Given the description of an element on the screen output the (x, y) to click on. 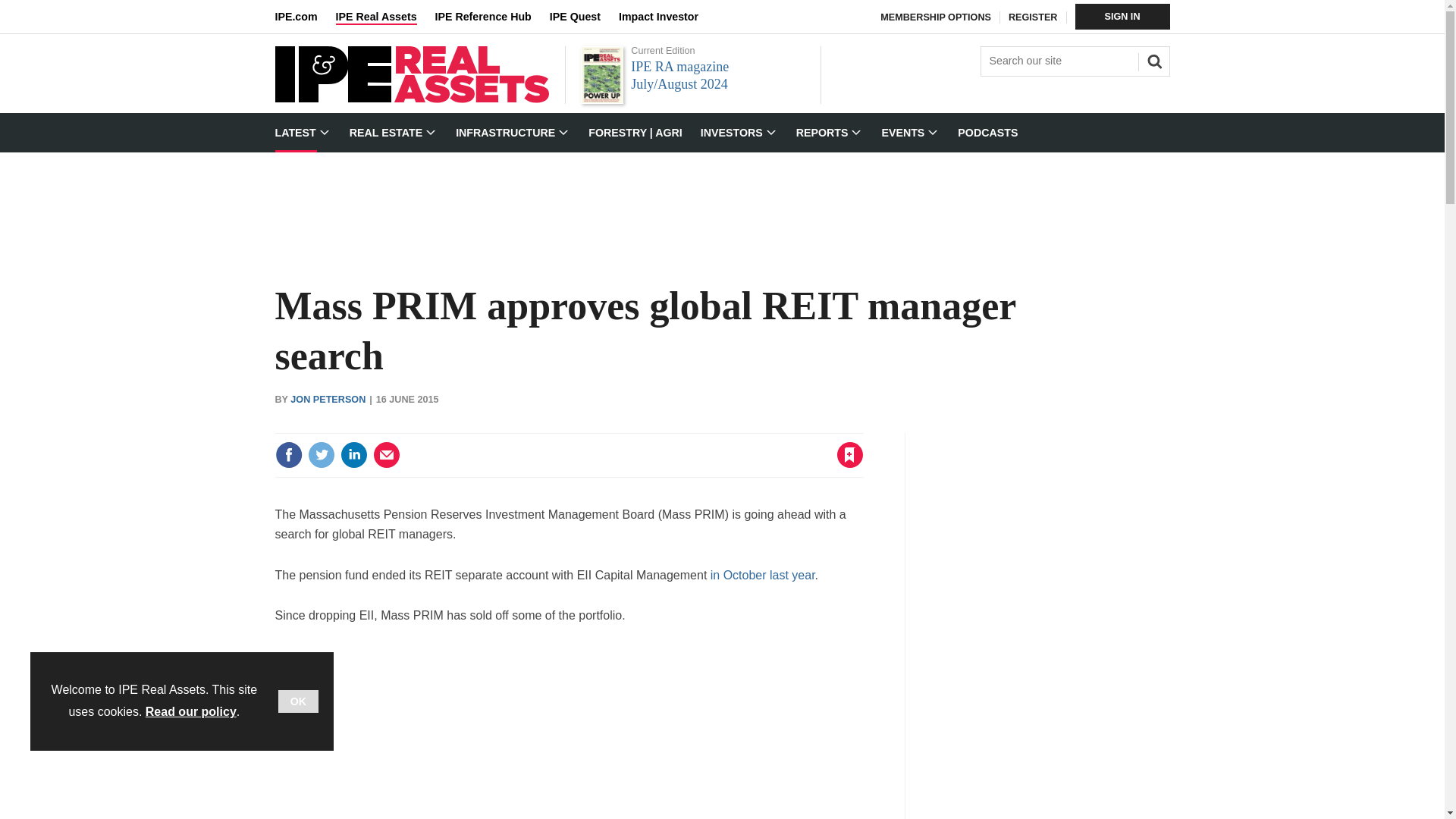
IPE.com (304, 16)
Share this on Linked in (352, 454)
IPE Quest (583, 16)
Share this on Twitter (320, 454)
IPE Reference Hub (491, 16)
REGISTER (1033, 17)
Email this article (386, 454)
Impact Investor (667, 16)
3rd party ad content (568, 733)
SEARCH (1152, 59)
Impact Investor (667, 16)
Share this on Facebook (288, 454)
Read our policy (190, 711)
IPE Quest (583, 16)
IPE Reference Hub (491, 16)
